Given the description of an element on the screen output the (x, y) to click on. 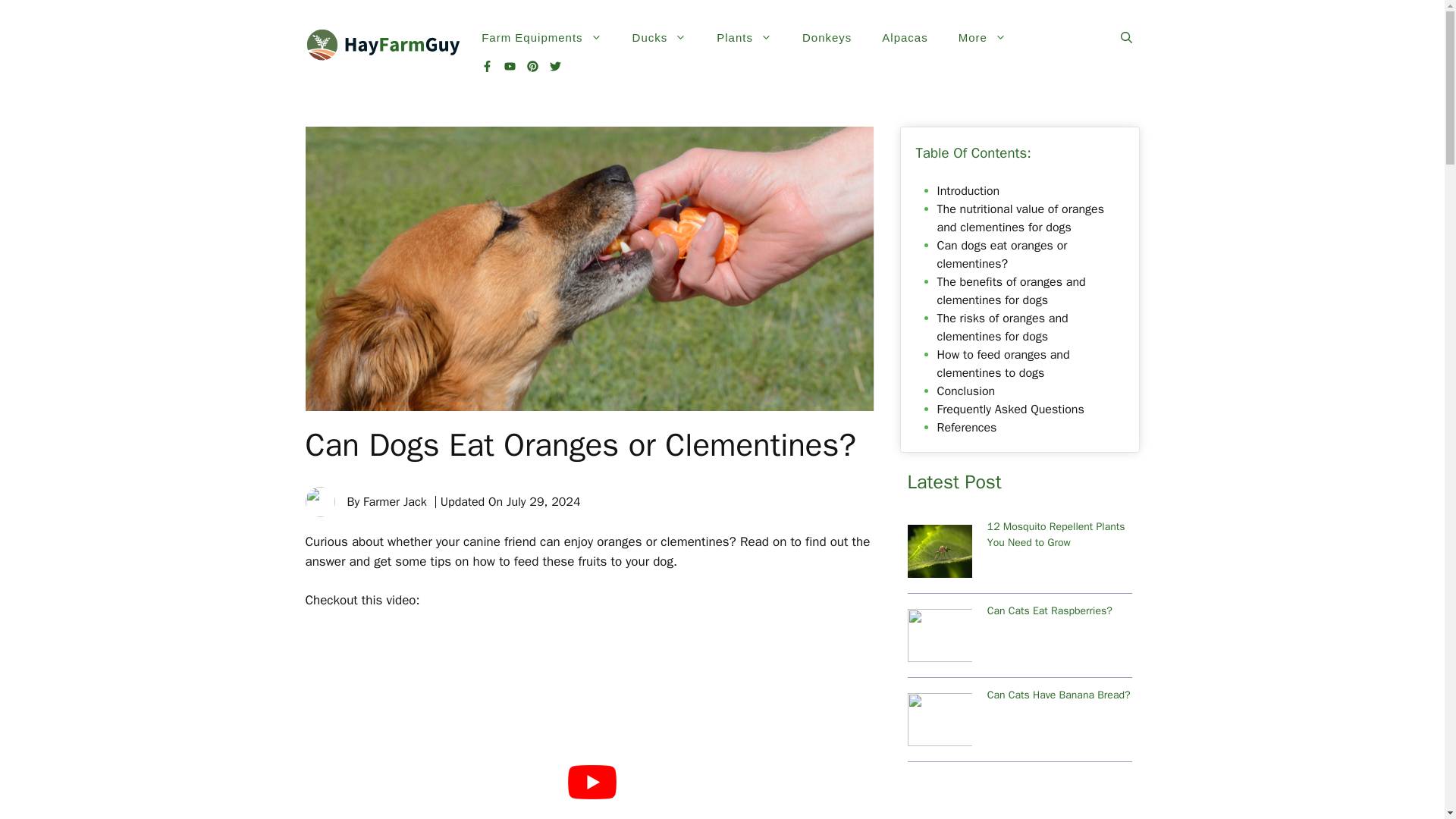
Donkeys (826, 37)
More (982, 37)
Plants (744, 37)
Ducks (659, 37)
Alpacas (904, 37)
Farm Equipments (540, 37)
